Given the description of an element on the screen output the (x, y) to click on. 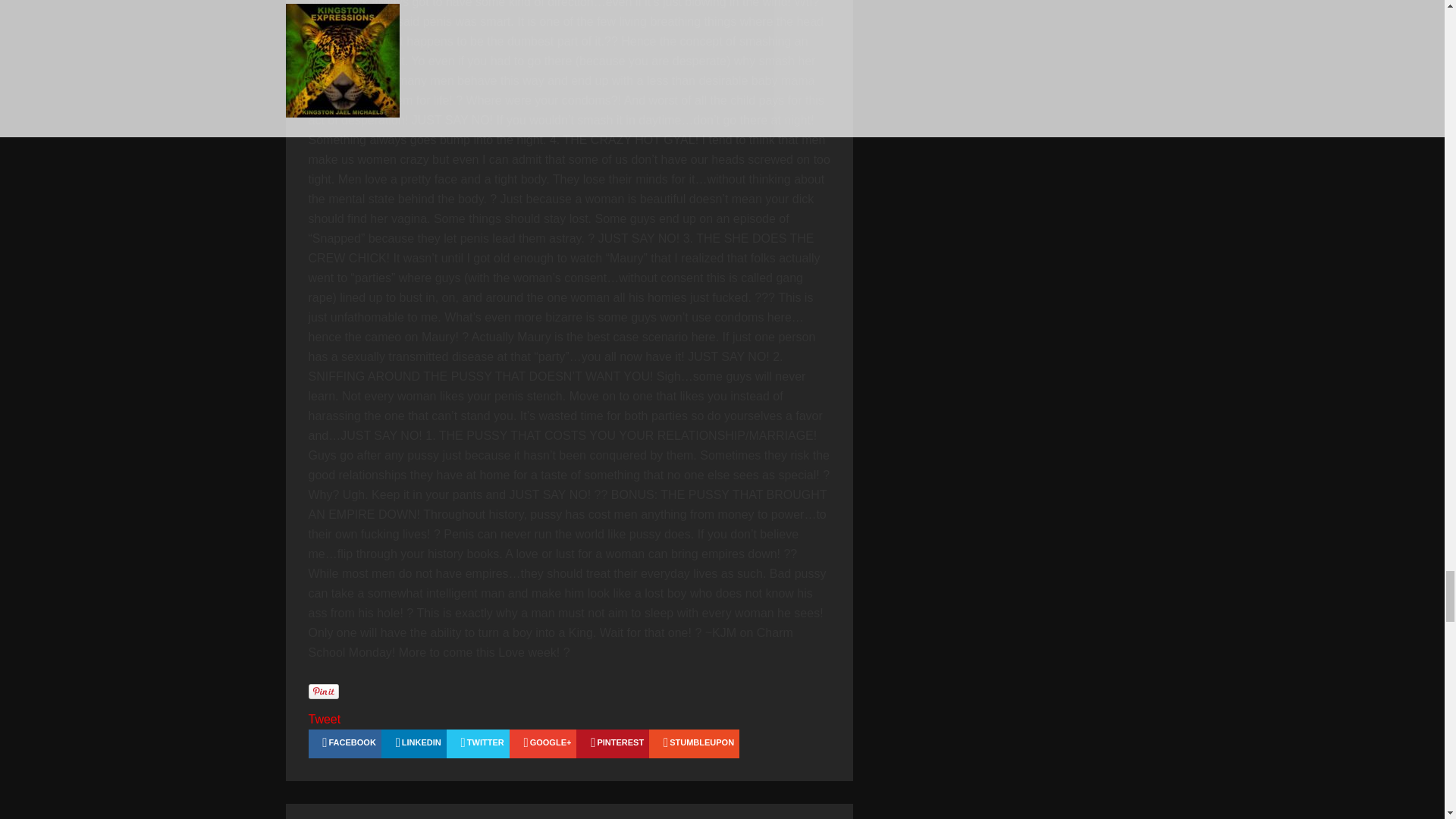
Pin It (322, 691)
